Given the description of an element on the screen output the (x, y) to click on. 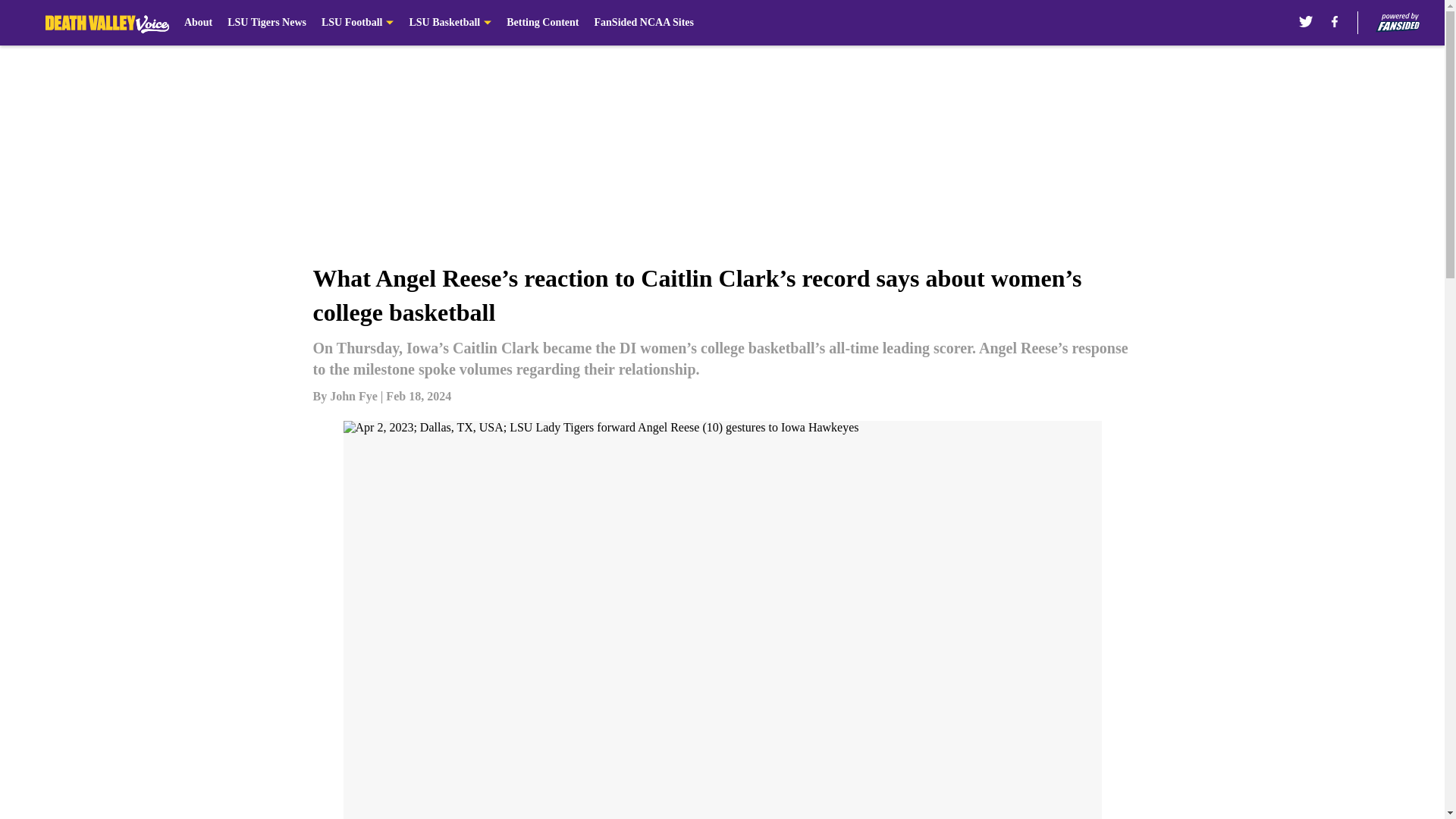
About (198, 22)
Betting Content (542, 22)
FanSided NCAA Sites (644, 22)
LSU Tigers News (266, 22)
